Given the description of an element on the screen output the (x, y) to click on. 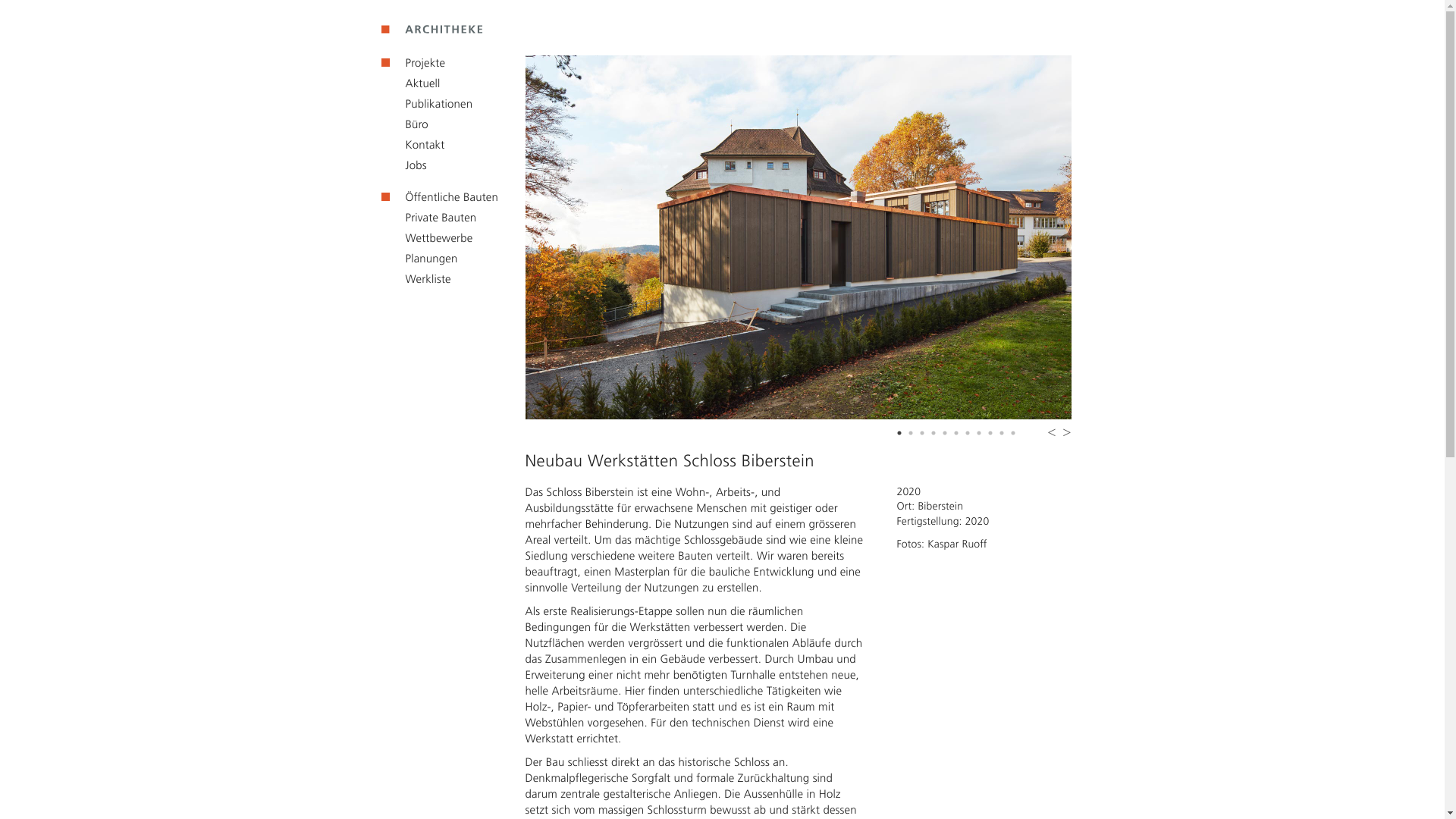
1 Element type: text (899, 435)
11 Element type: text (1013, 435)
6 Element type: text (957, 435)
Publikationen Element type: text (426, 103)
5 Element type: text (945, 435)
Aktuell Element type: text (409, 83)
Private Bauten Element type: text (428, 217)
Projekte Element type: text (412, 62)
4 Element type: text (934, 435)
Wettbewerbe Element type: text (426, 237)
Kontakt Element type: text (412, 144)
Werkliste Element type: text (415, 278)
7 Element type: text (968, 435)
3 Element type: text (922, 435)
Planungen Element type: text (418, 258)
8 Element type: text (980, 435)
9 Element type: text (990, 435)
10 Element type: text (1003, 435)
2 Element type: text (912, 435)
Jobs Element type: text (403, 165)
